Given the description of an element on the screen output the (x, y) to click on. 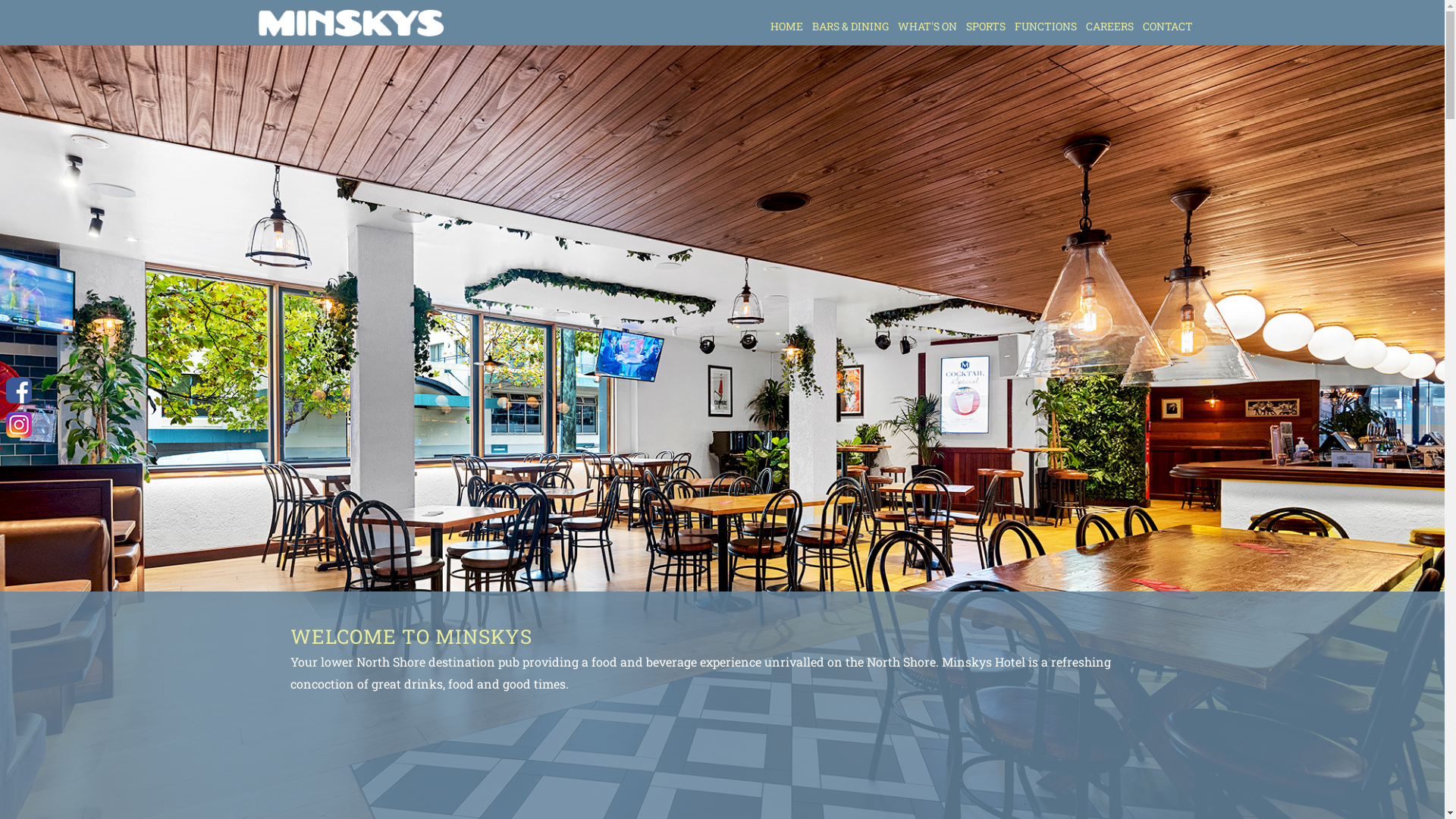
FUNCTIONS Element type: text (1044, 26)
WHAT'S ON Element type: text (926, 26)
HOME Element type: text (785, 26)
CAREERS Element type: text (1108, 26)
SPORTS Element type: text (984, 26)
CONTACT Element type: text (1167, 26)
BARS & DINING Element type: text (850, 26)
